Given the description of an element on the screen output the (x, y) to click on. 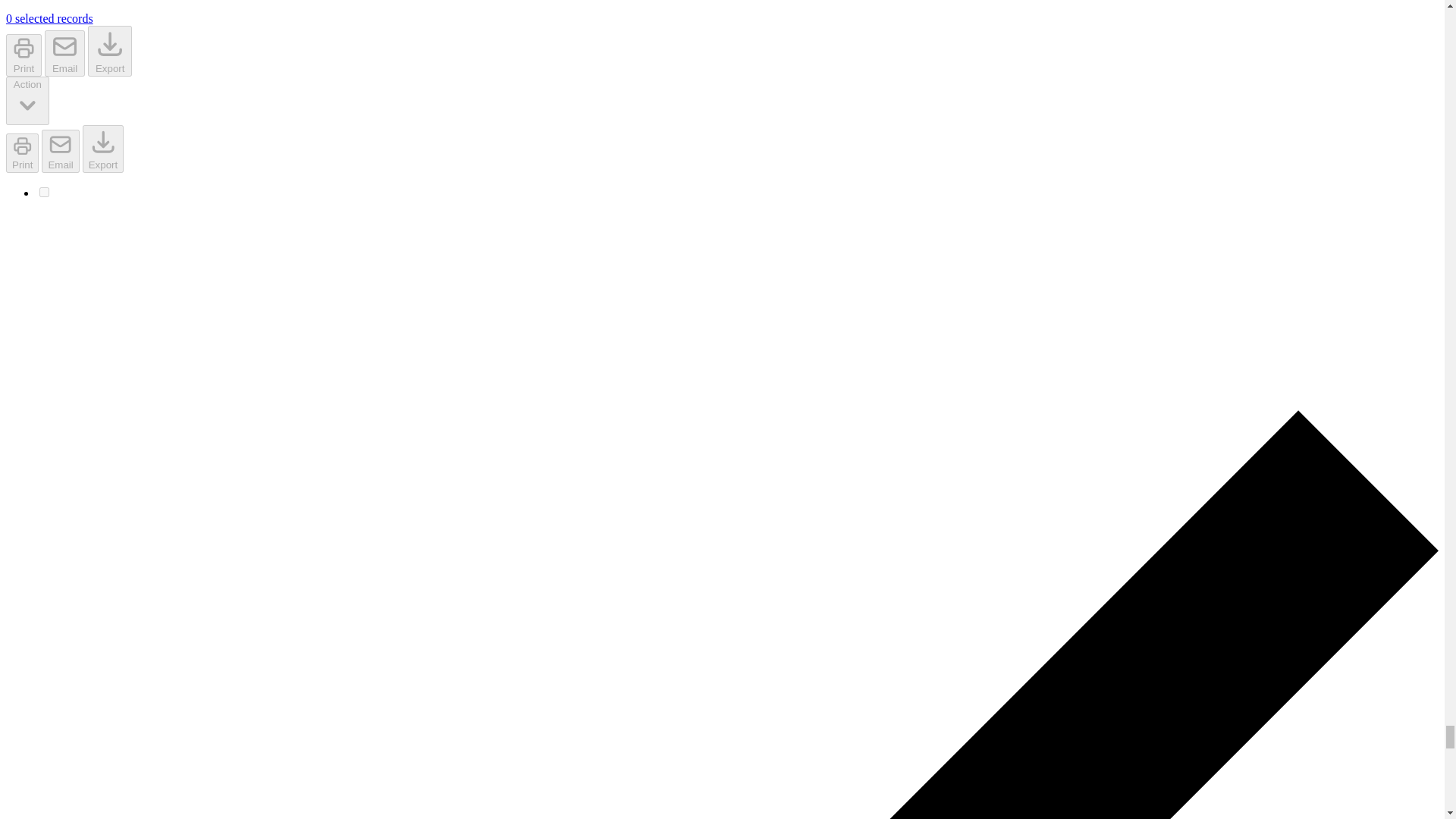
Export (109, 50)
e8d62c50 (44, 192)
Export (102, 148)
Action (27, 101)
Print (22, 152)
Email (60, 150)
Print (23, 55)
Email (64, 53)
0 selected records (49, 18)
